Given the description of an element on the screen output the (x, y) to click on. 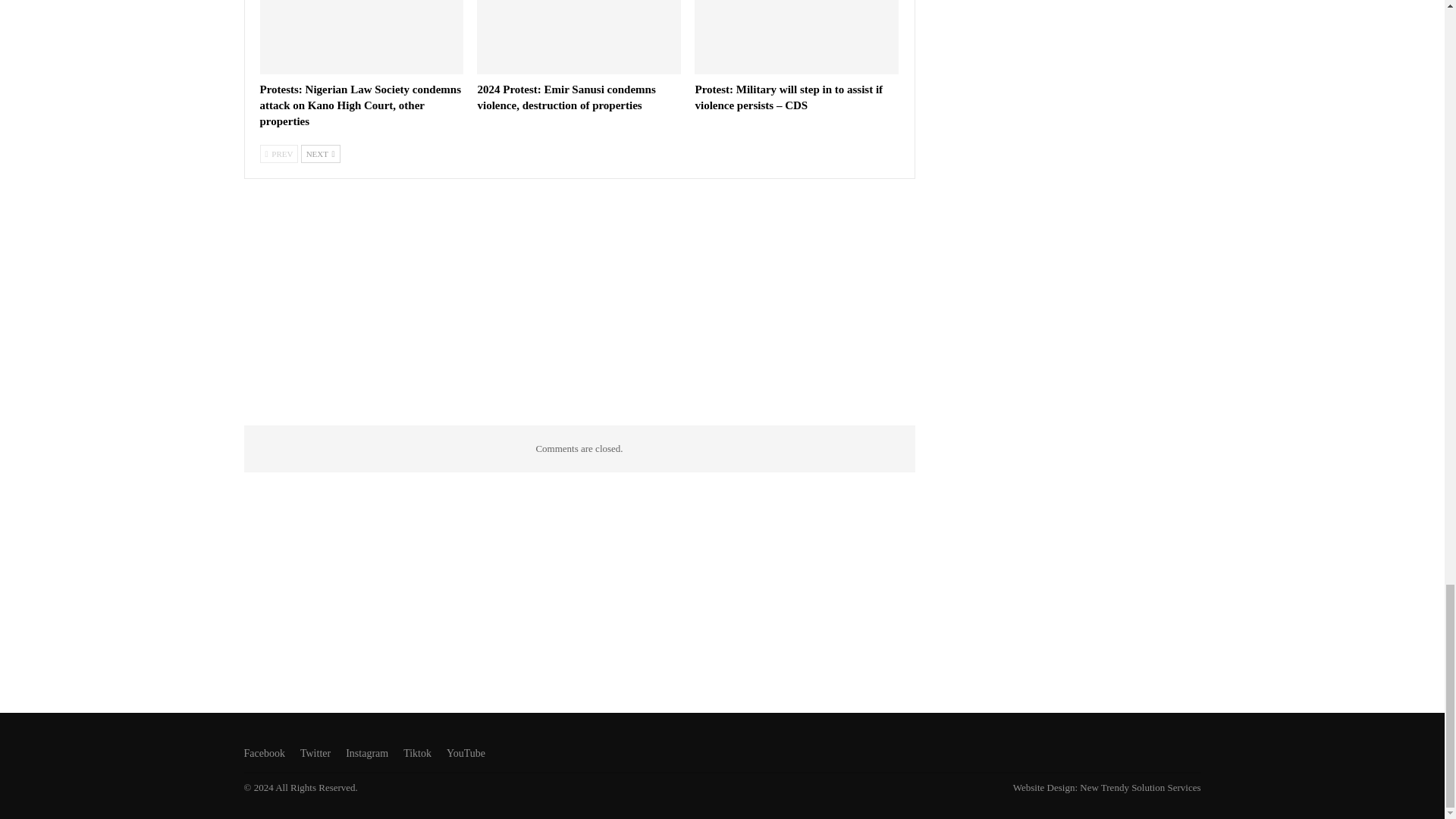
Previous (278, 153)
Next (320, 153)
